Given the description of an element on the screen output the (x, y) to click on. 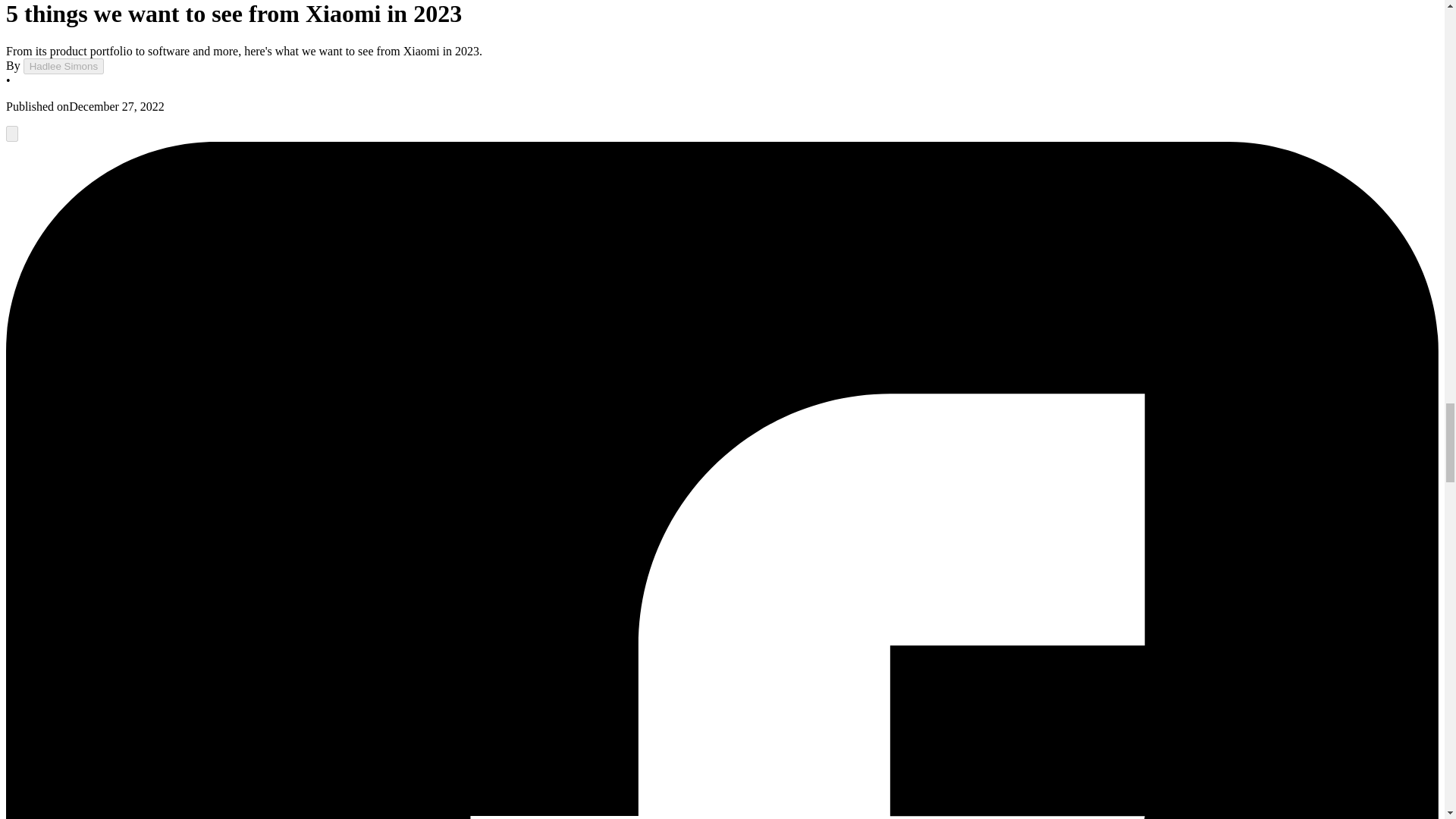
Hadlee Simons (63, 66)
